Given the description of an element on the screen output the (x, y) to click on. 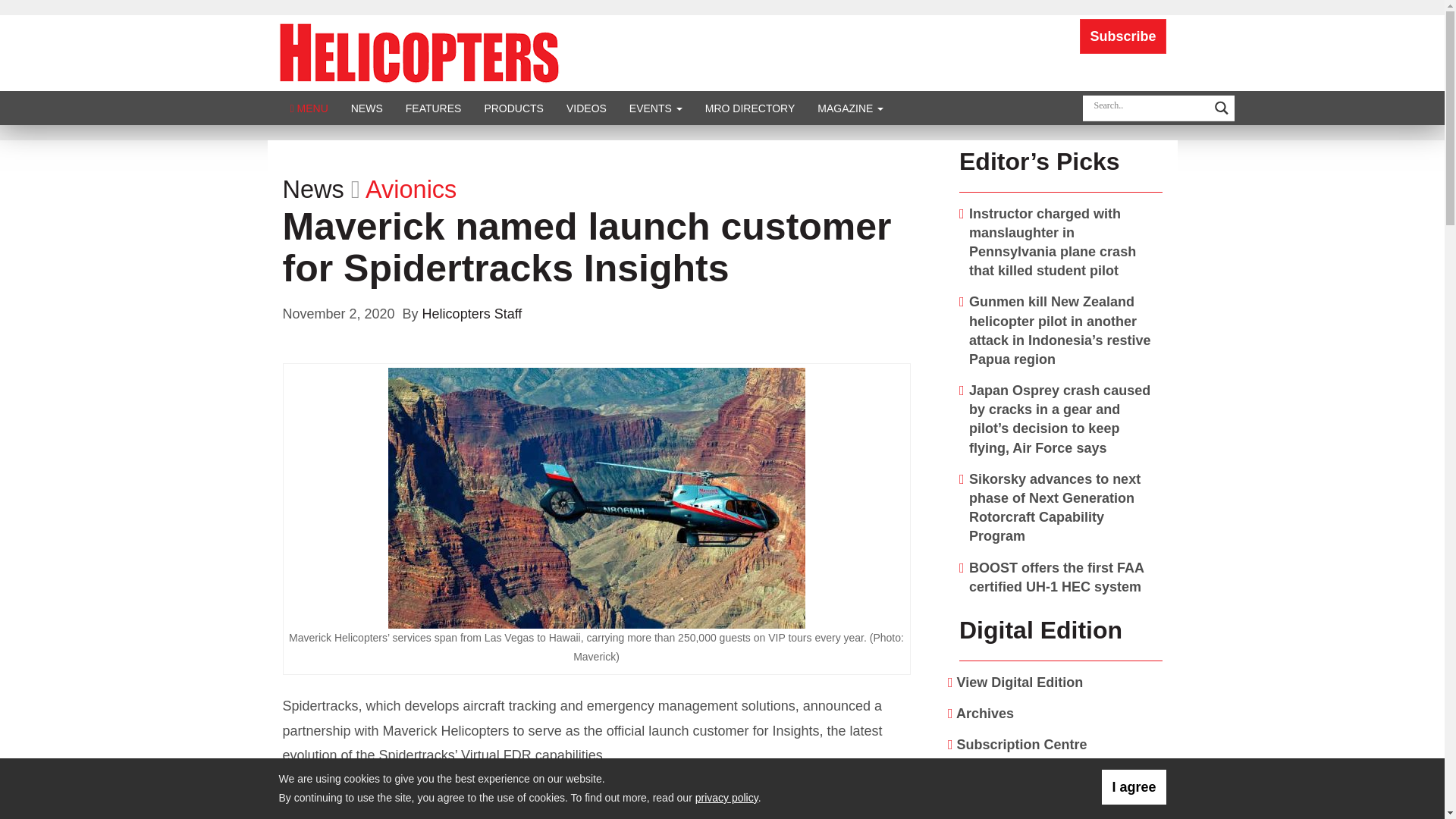
NEWS (366, 107)
FEATURES (433, 107)
Subscribe (1123, 36)
MENU (309, 107)
Click to show site navigation (309, 107)
Helicopters Magazine (419, 52)
MRO DIRECTORY (750, 107)
PRODUCTS (512, 107)
MAGAZINE (850, 107)
EVENTS (655, 107)
